Given the description of an element on the screen output the (x, y) to click on. 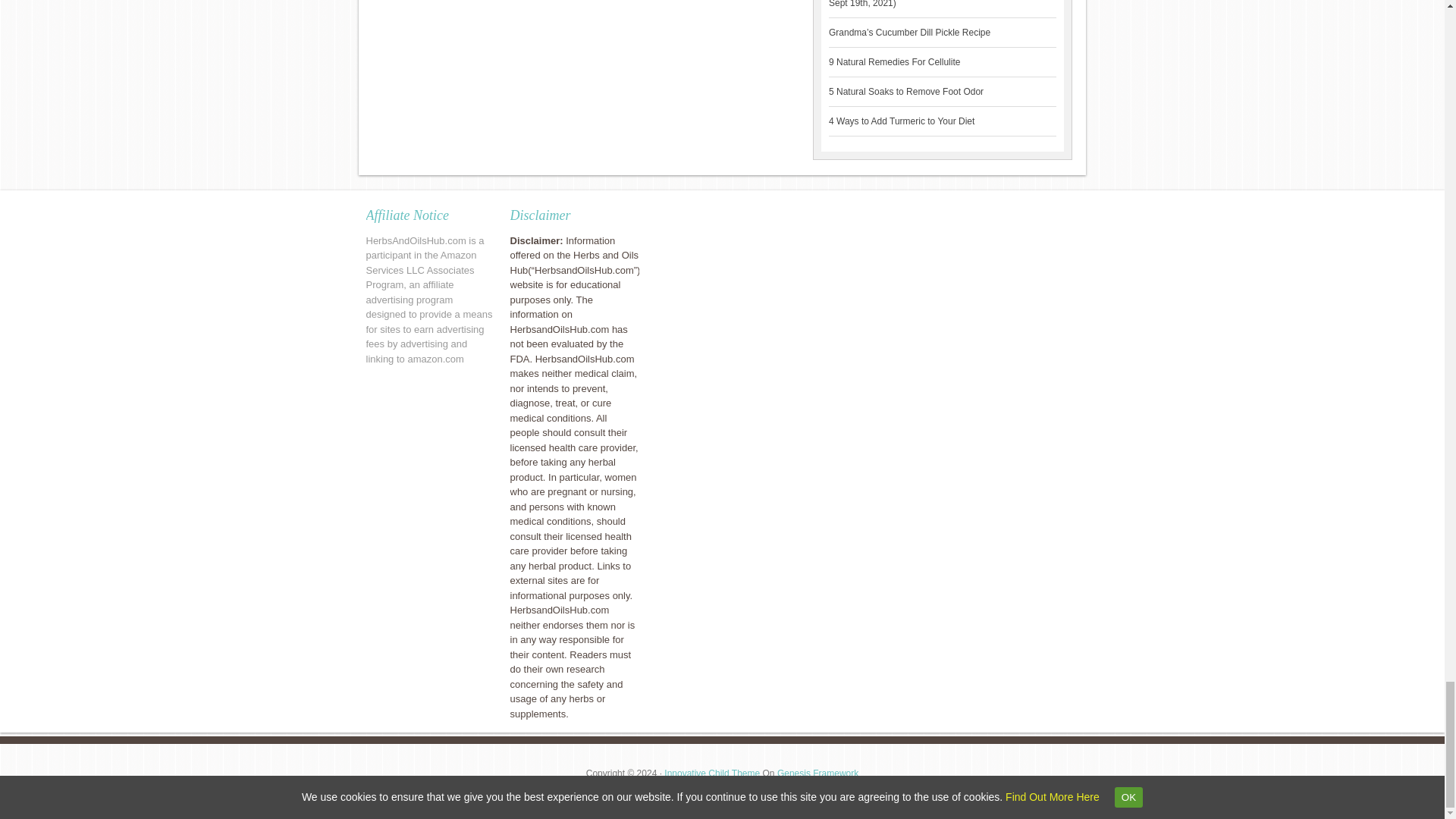
9 Natural Remedies For Cellulite (893, 61)
